Given the description of an element on the screen output the (x, y) to click on. 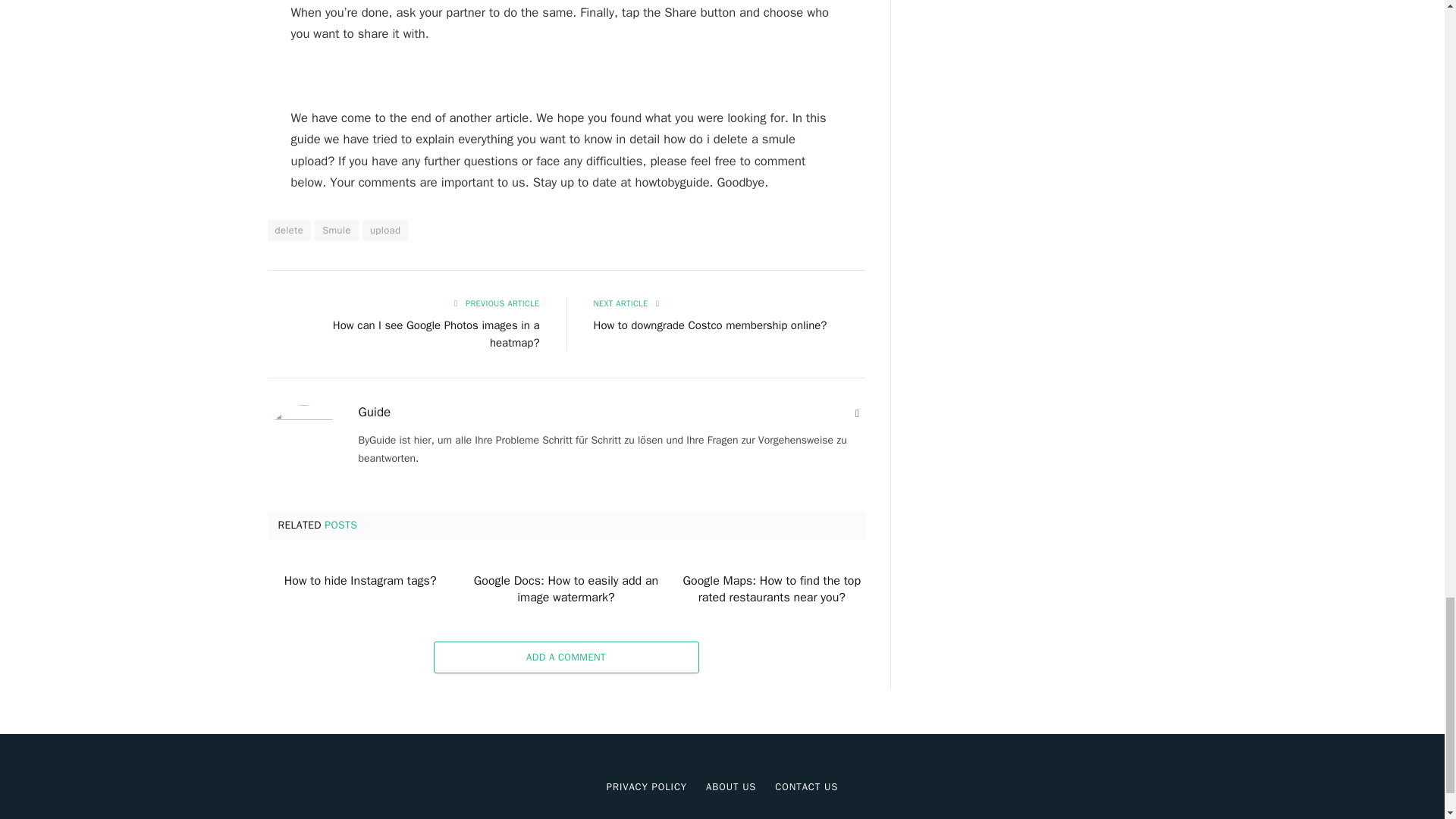
How to downgrade Costco membership online? (709, 325)
delete (288, 230)
How can I see Google Photos images in a heatmap? (436, 333)
Posts by Guide (374, 412)
Website (856, 413)
Smule (336, 230)
upload (385, 230)
